Given the description of an element on the screen output the (x, y) to click on. 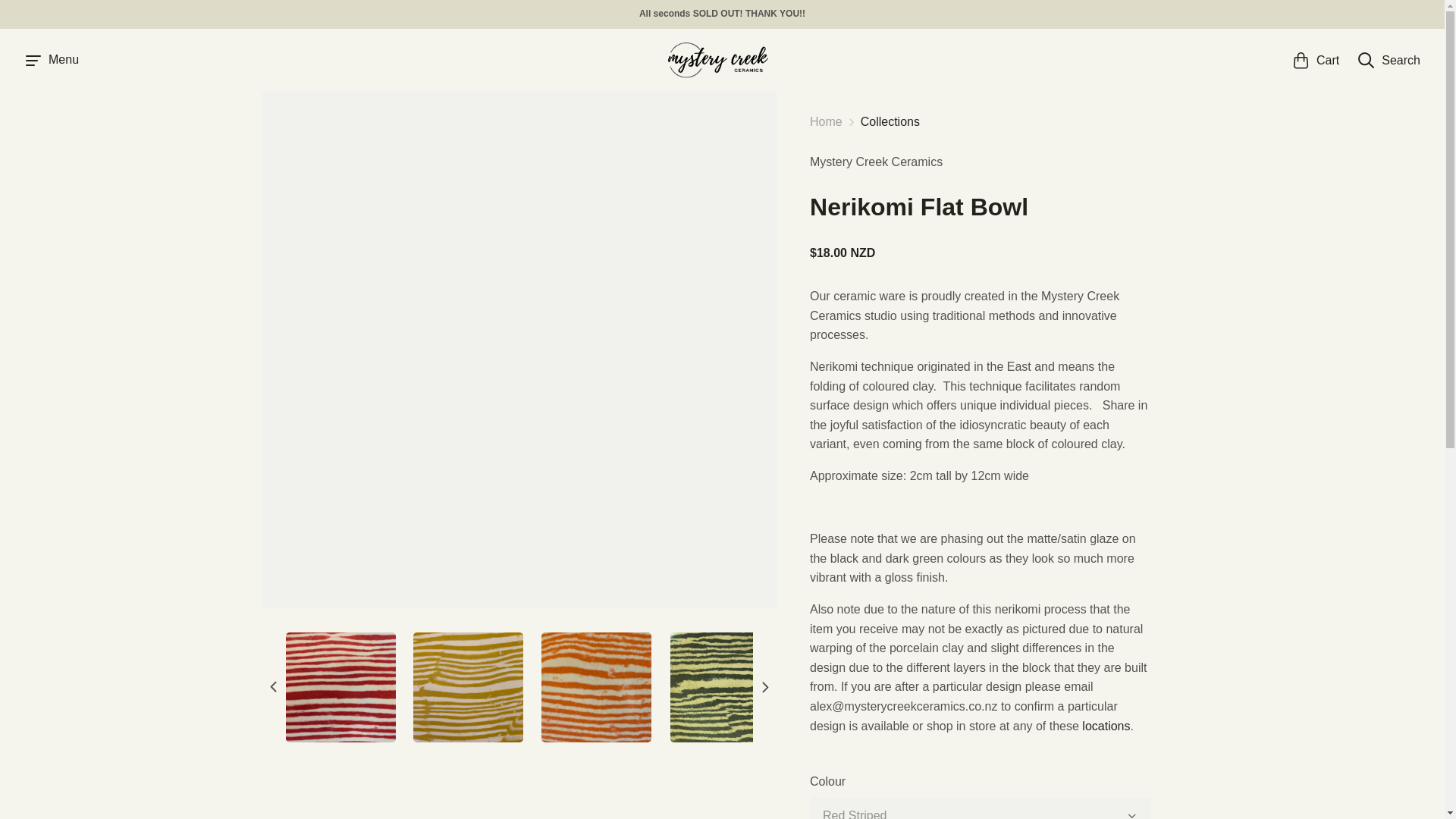
Menu (51, 60)
